Given the description of an element on the screen output the (x, y) to click on. 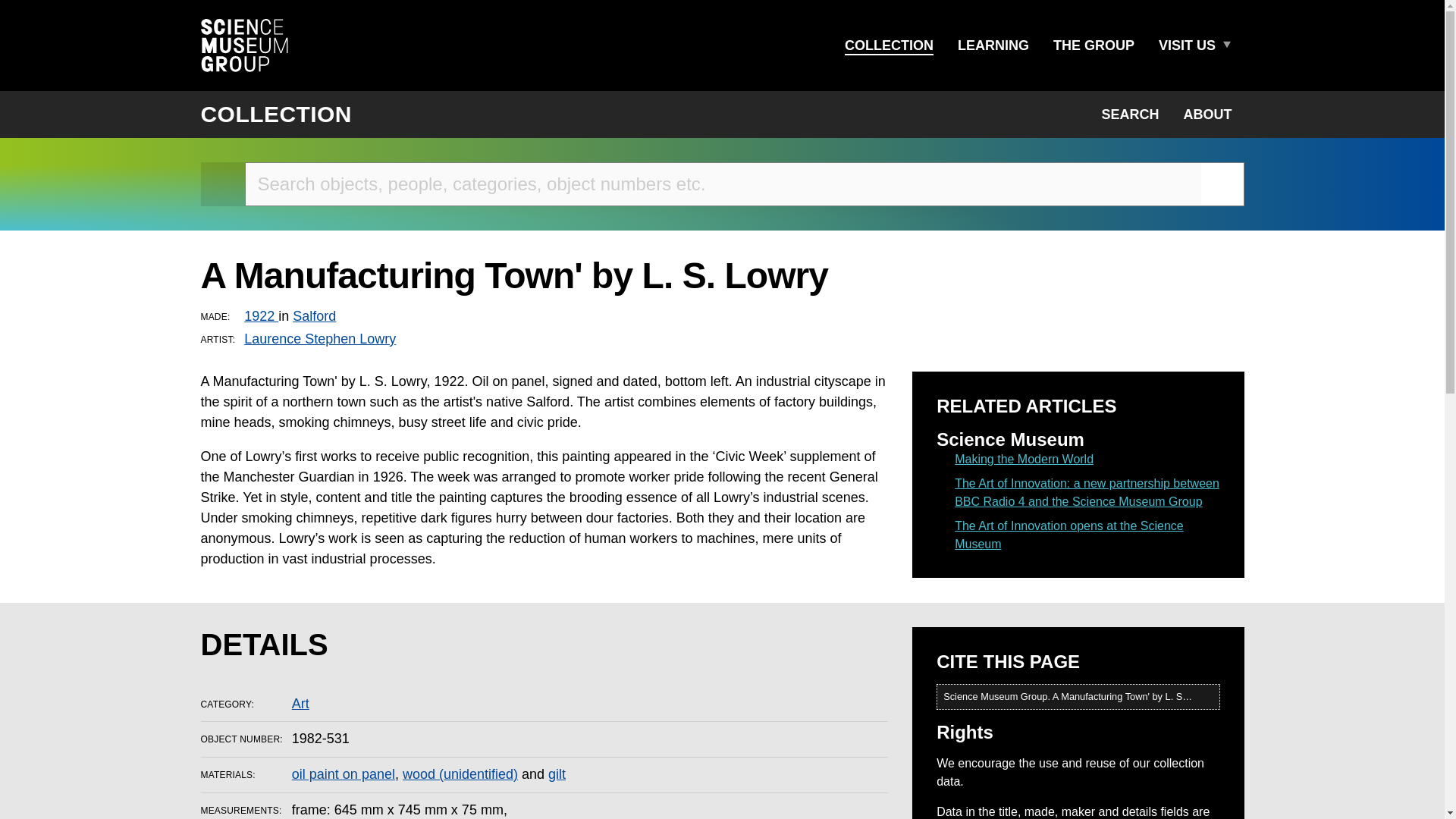
Salford (314, 315)
THE GROUP (1094, 45)
oil paint on panel (343, 774)
Copy citation text (1207, 696)
SEARCH (1129, 114)
COLLECTION (276, 113)
1922 (261, 315)
VISIT US (1187, 45)
gilt (557, 774)
ABOUT (1206, 114)
